Given the description of an element on the screen output the (x, y) to click on. 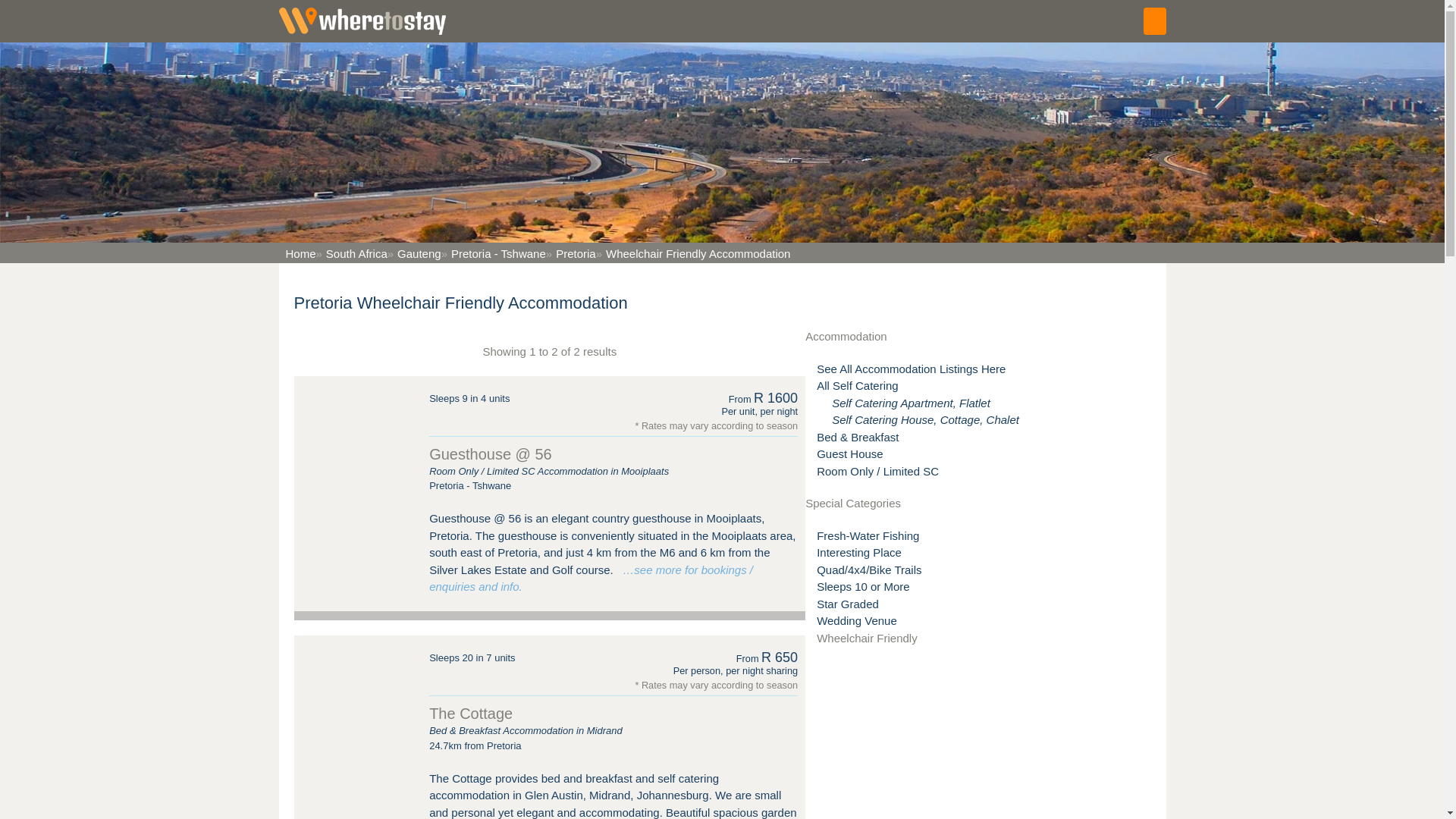
Interesting Place (858, 552)
Star Graded (847, 603)
Sleeps 9 in 4 units (469, 398)
License (307, 9)
Wedding Venue (856, 620)
Fresh-Water Fishing (867, 535)
Wheelchair Friendly Accommodation (692, 253)
Gauteng (414, 253)
Sleeps 10 or More (863, 585)
Self Catering Apartment, Flatlet (910, 402)
